Given the description of an element on the screen output the (x, y) to click on. 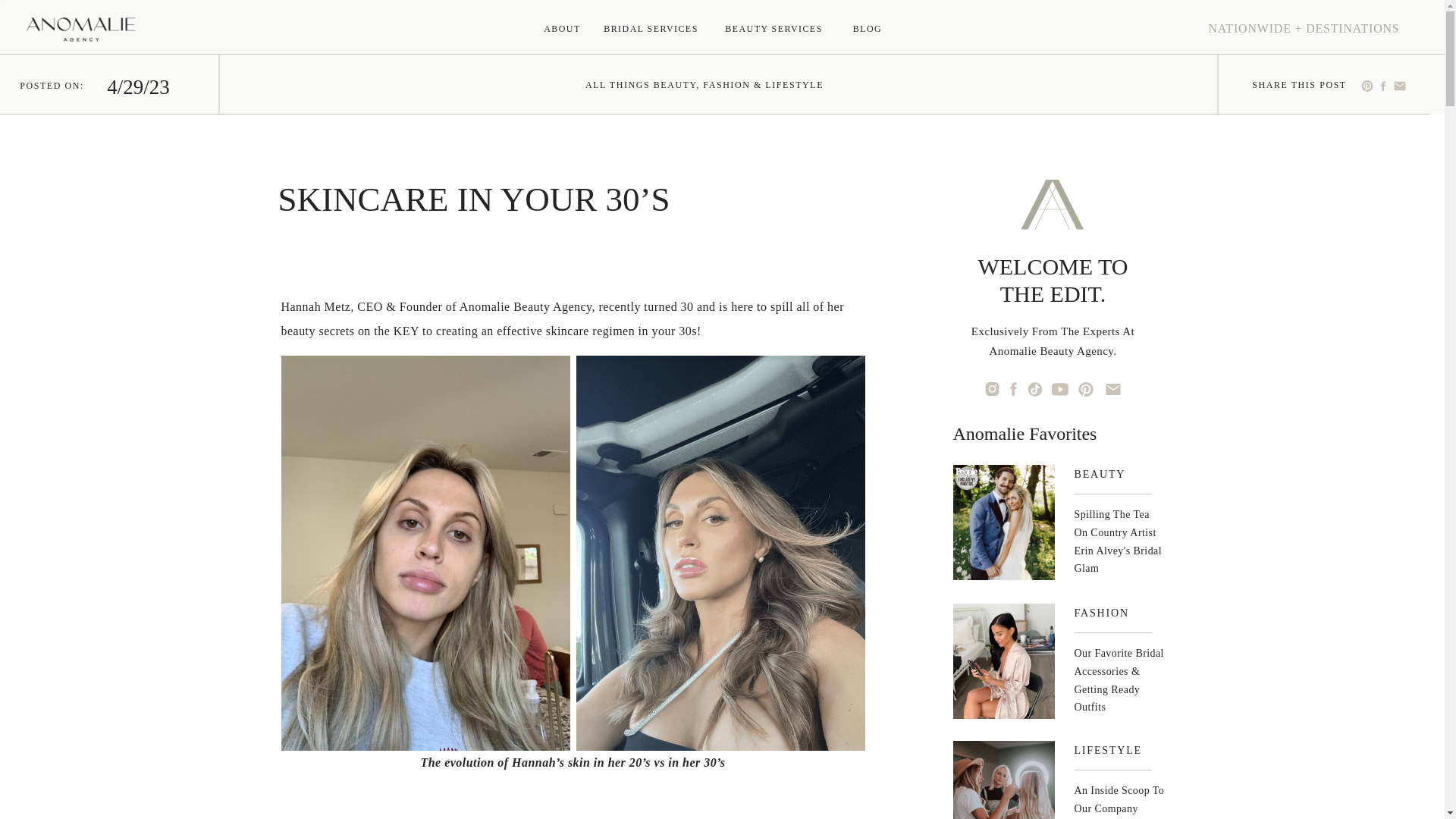
An Inside Scoop To Our Company Trainings  (1121, 800)
BLOG (867, 28)
BRIDAL SERVICES (650, 28)
BRIDAL SERVICES (650, 28)
Spilling The Tea On Country Artist Erin Alvey'S Bridal Glam (1118, 542)
ABOUT (562, 28)
ABOUT (562, 28)
BLOG (867, 28)
BEAUTY SERVICES (774, 28)
BEAUTY SERVICES (774, 28)
BEAUTY SERVICES (774, 28)
BRIDAL SERVICES (650, 28)
BLOG (867, 28)
ABOUT (562, 28)
